Given the description of an element on the screen output the (x, y) to click on. 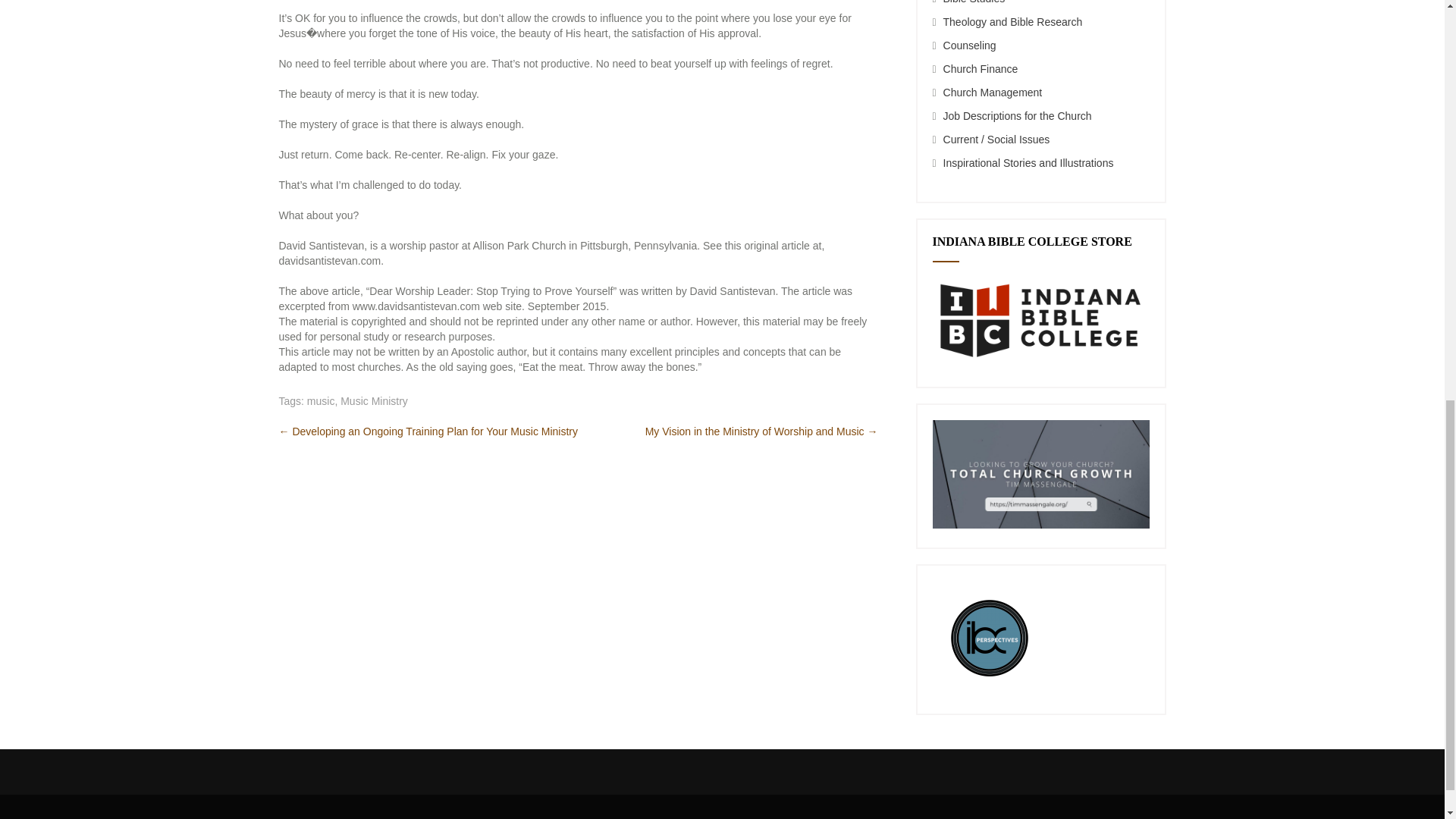
music (320, 400)
Job Descriptions for the Church (1017, 115)
Church Management (992, 92)
Music Ministry (373, 400)
Bible Studies (974, 2)
Counseling (969, 45)
Theology and Bible Research (1013, 21)
Inspirational Stories and Illustrations (1028, 162)
Church Finance (980, 69)
